Given the description of an element on the screen output the (x, y) to click on. 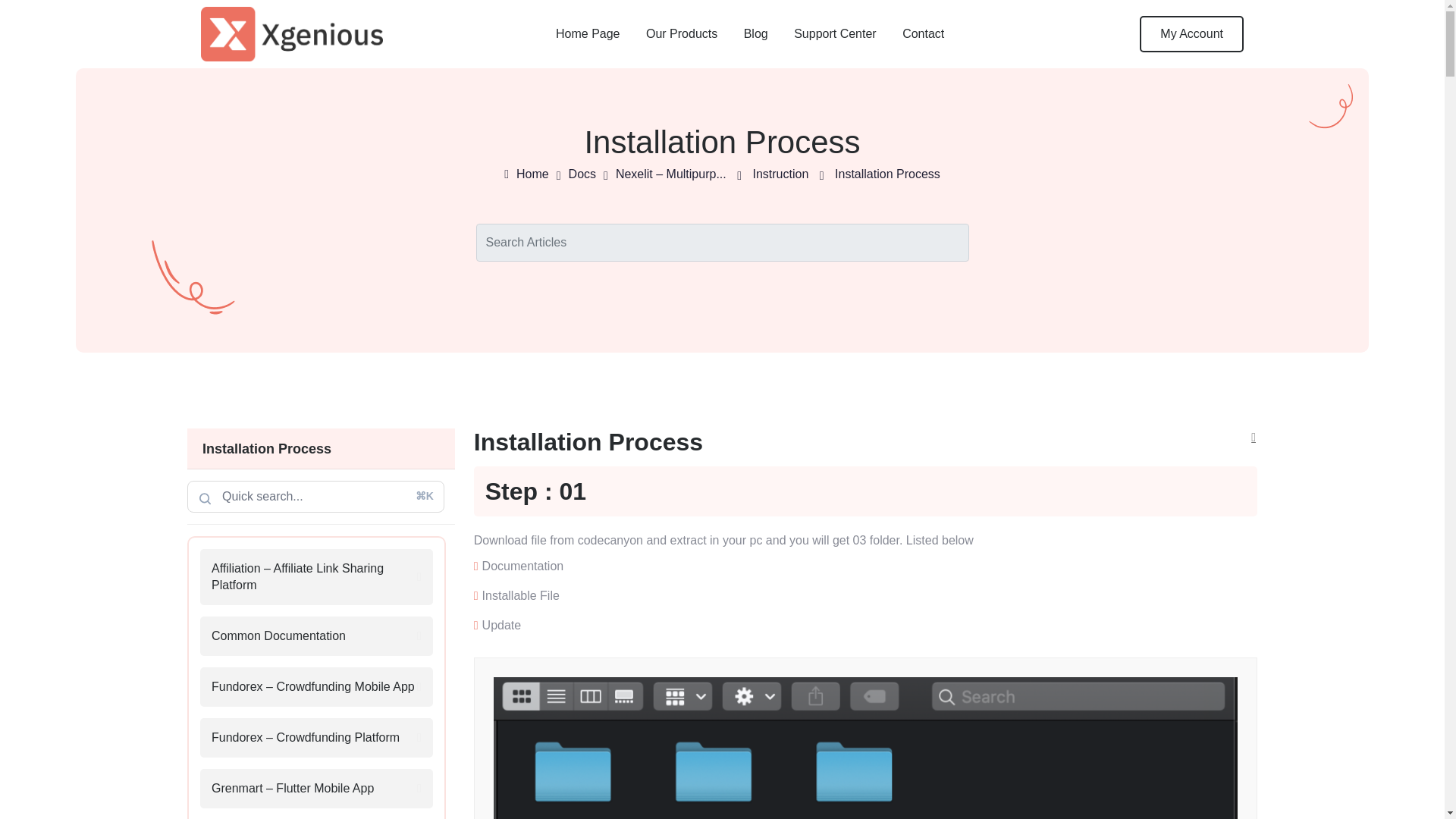
Docs (582, 173)
Support Center (834, 33)
Search for: (315, 496)
Home (532, 173)
Home Page (588, 33)
Our Products (681, 33)
Instruction (780, 173)
Blog (756, 33)
My Account (1191, 33)
Contact (922, 33)
